Given the description of an element on the screen output the (x, y) to click on. 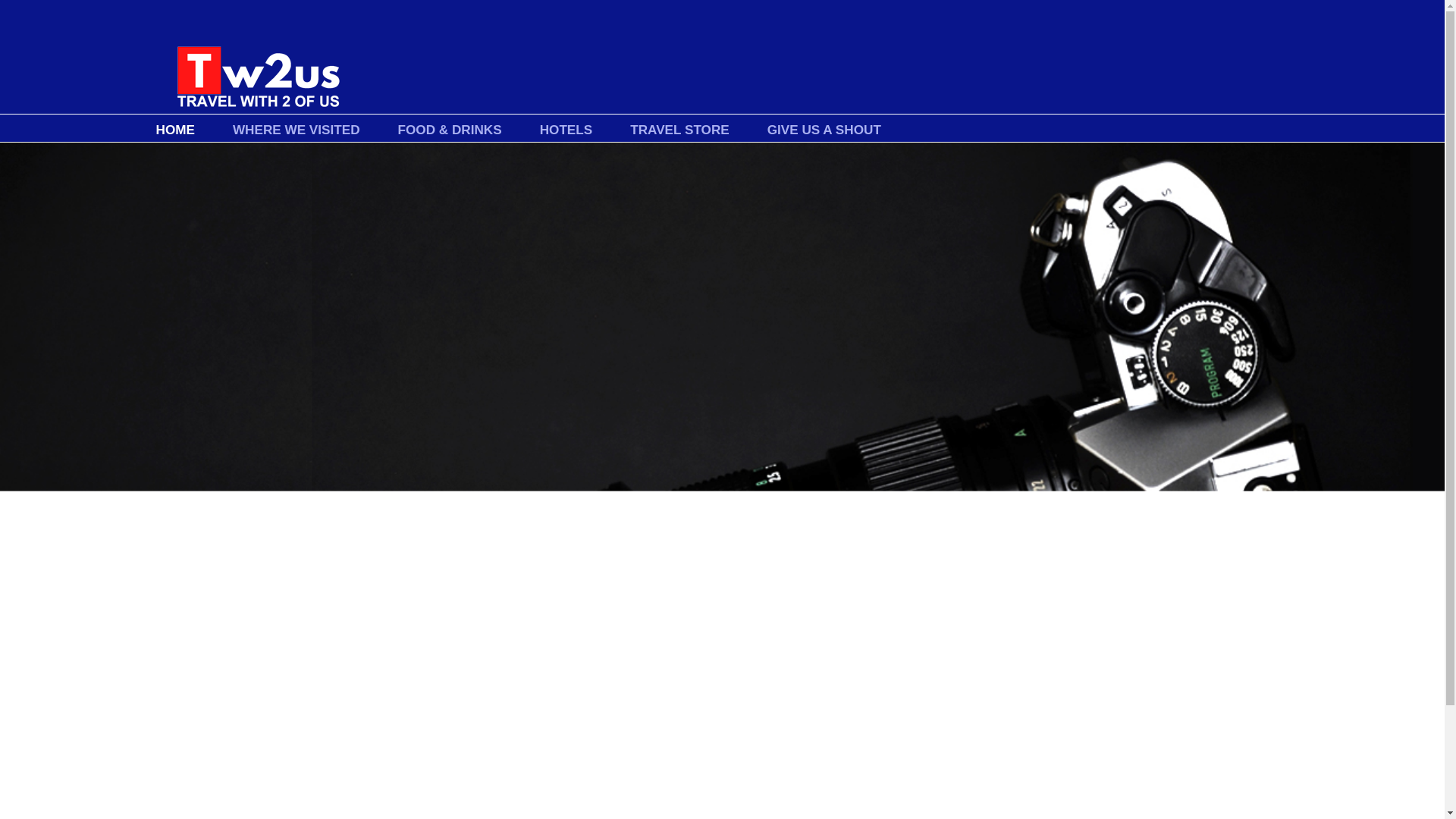
WHERE WE VISITED (296, 129)
HOTELS (566, 129)
TRAVEL STORE (678, 129)
HOME (174, 129)
GIVE US A SHOUT (823, 129)
